Given the description of an element on the screen output the (x, y) to click on. 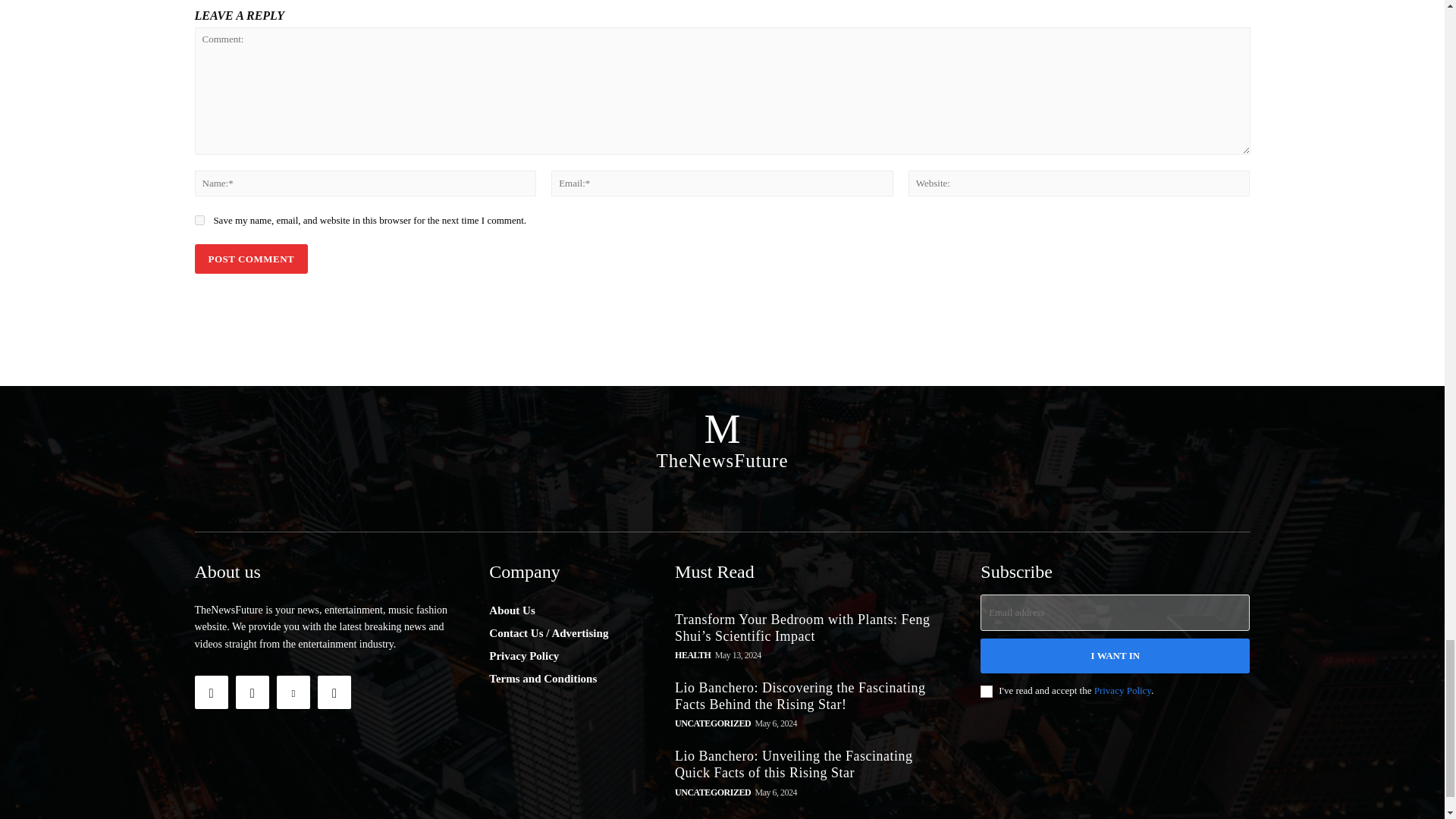
yes (198, 220)
Post Comment (250, 258)
